Given the description of an element on the screen output the (x, y) to click on. 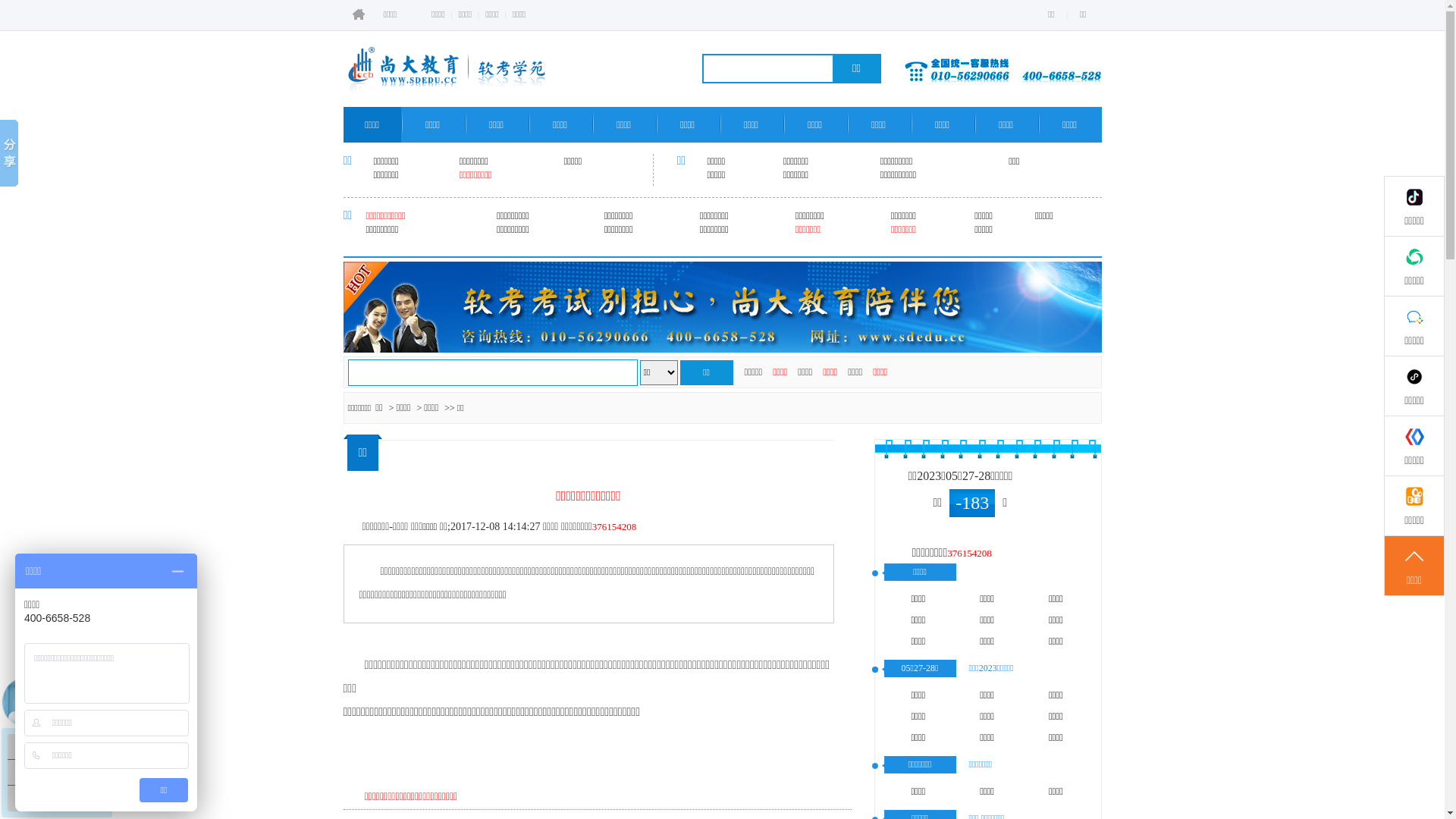
376154208 Element type: text (614, 526)
376154208 Element type: text (969, 552)
